Given the description of an element on the screen output the (x, y) to click on. 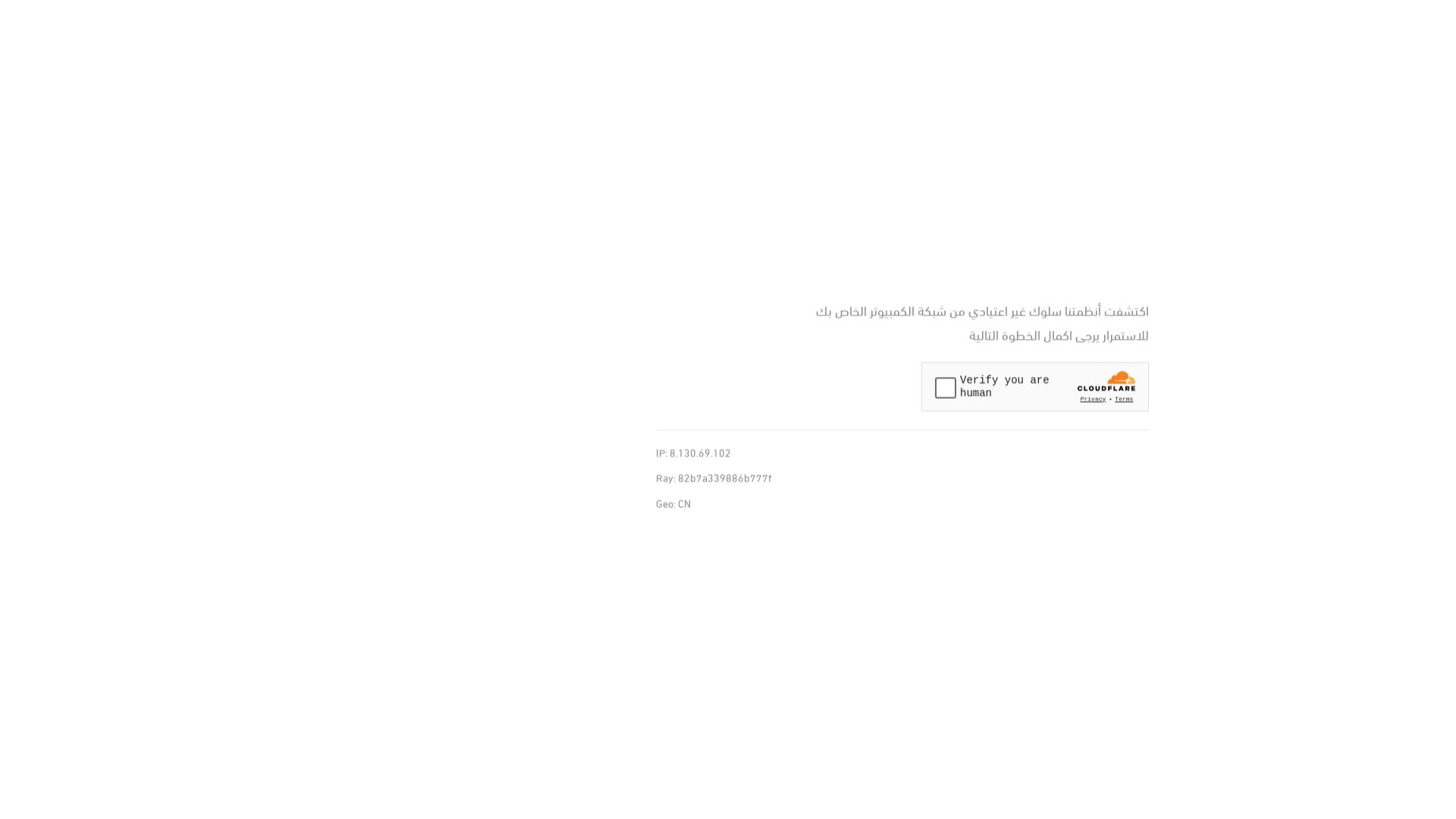
Widget containing a Cloudflare security challenge Element type: hover (1034, 386)
